Given the description of an element on the screen output the (x, y) to click on. 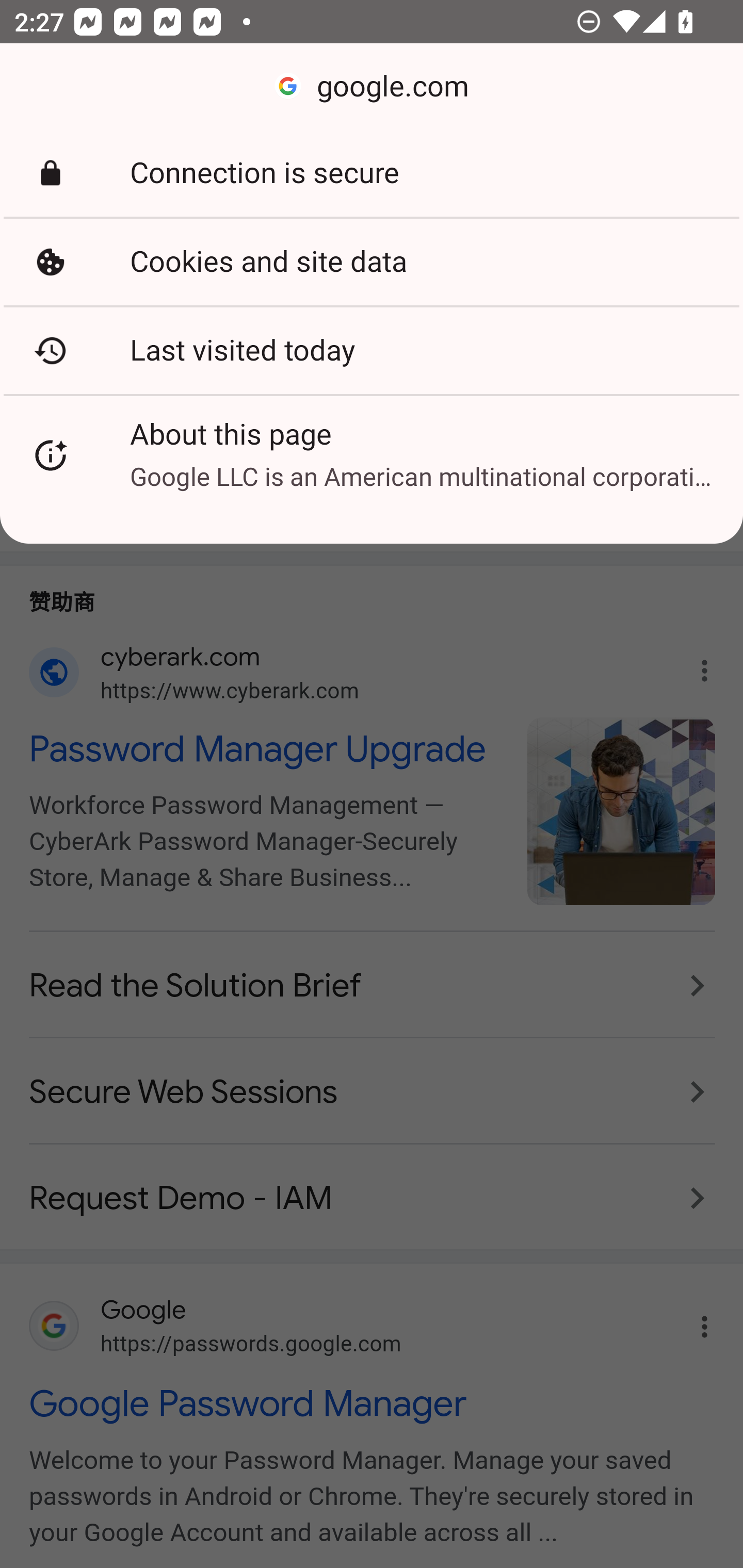
google.com (371, 86)
Connection is secure (371, 173)
Cookies and site data (371, 261)
Last visited today (371, 350)
